Given the description of an element on the screen output the (x, y) to click on. 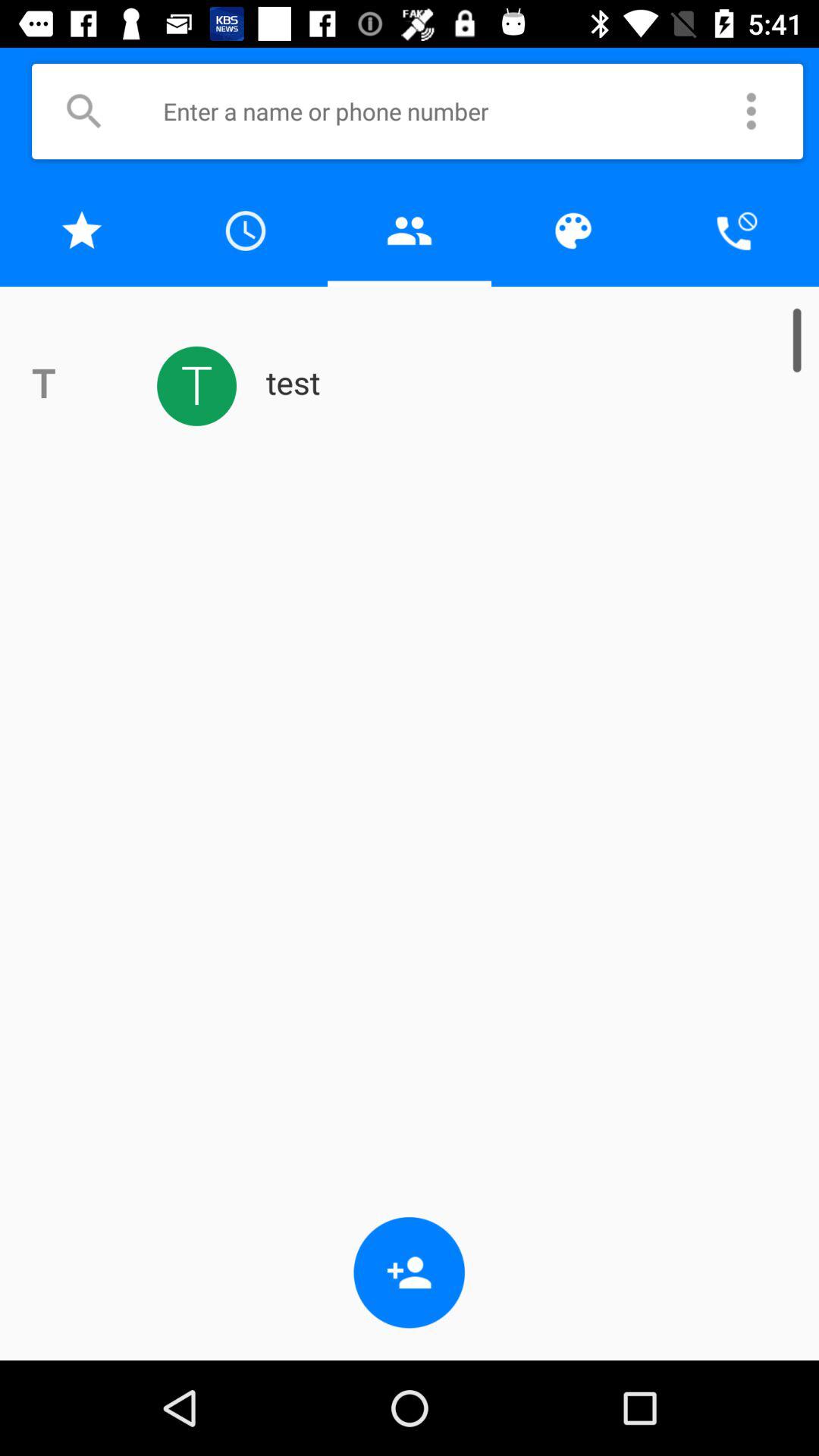
open the icon above test (737, 230)
